Given the description of an element on the screen output the (x, y) to click on. 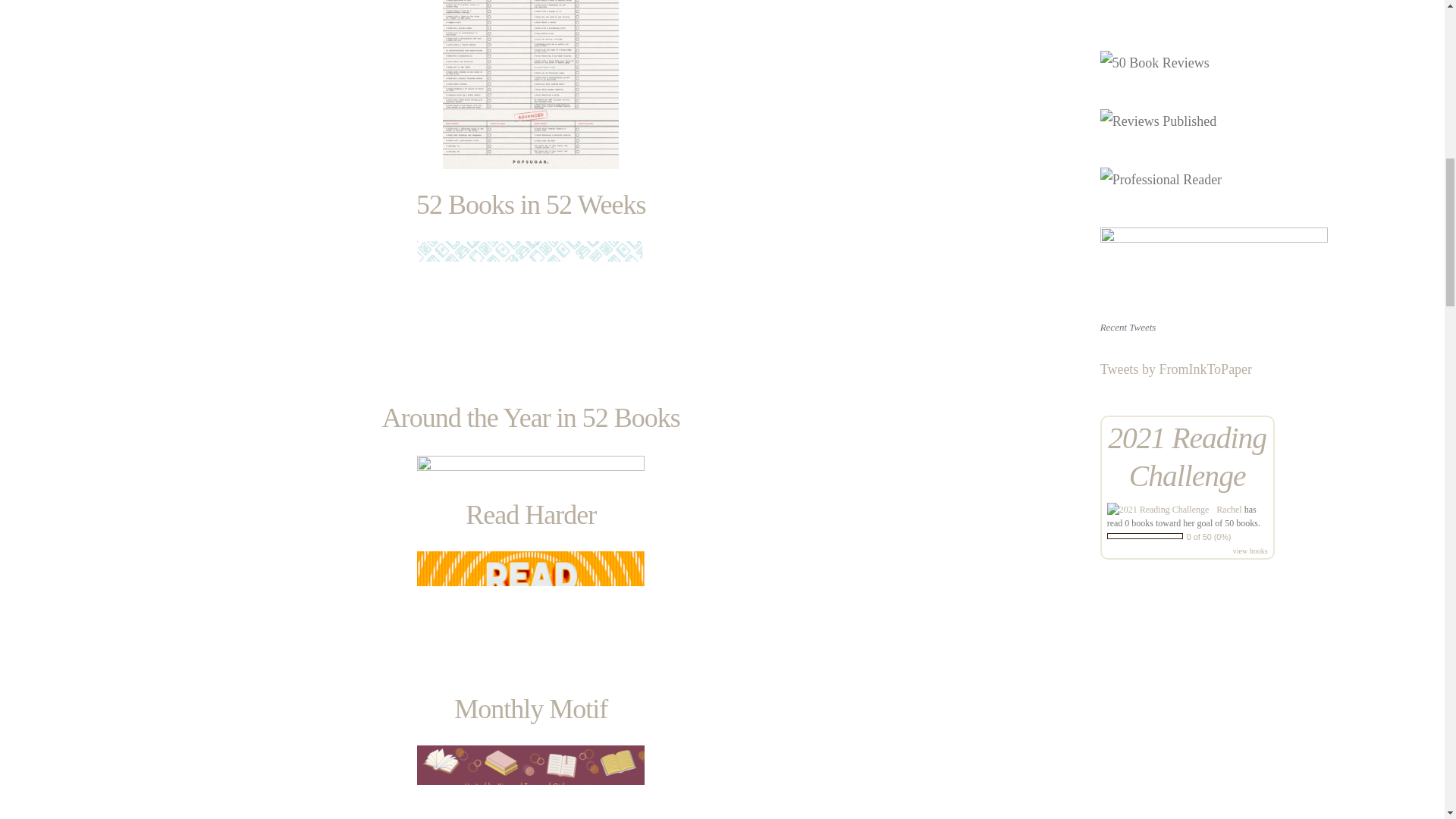
Around the Year in 52 Books (530, 417)
52 Books in 52 Weeks (530, 204)
50 Book Reviews (1154, 62)
Monthly Motif (530, 708)
Reviews Published (1158, 120)
Read Harder (530, 514)
Professional Reader (1160, 179)
